Given the description of an element on the screen output the (x, y) to click on. 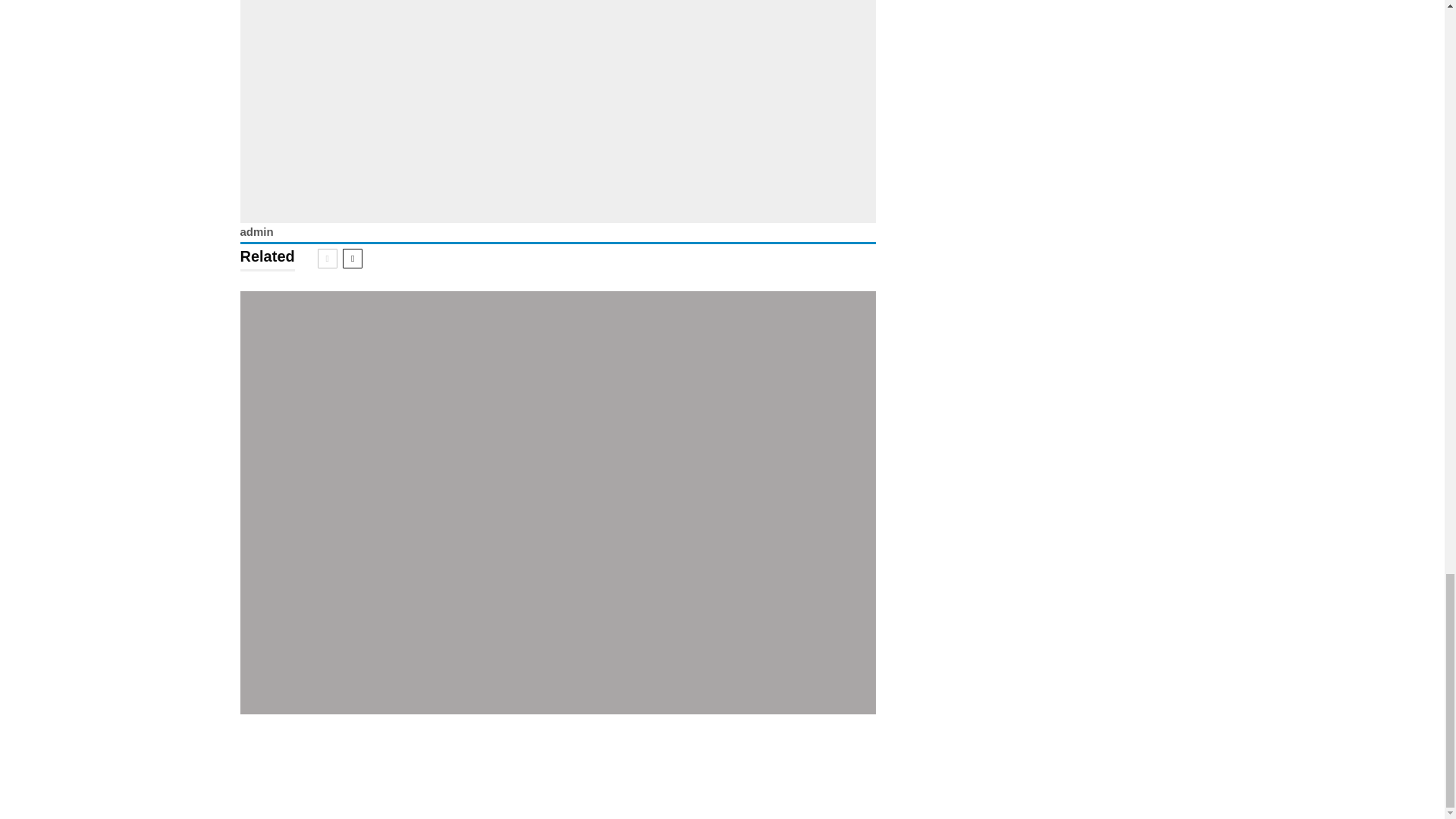
admin (256, 231)
